Given the description of an element on the screen output the (x, y) to click on. 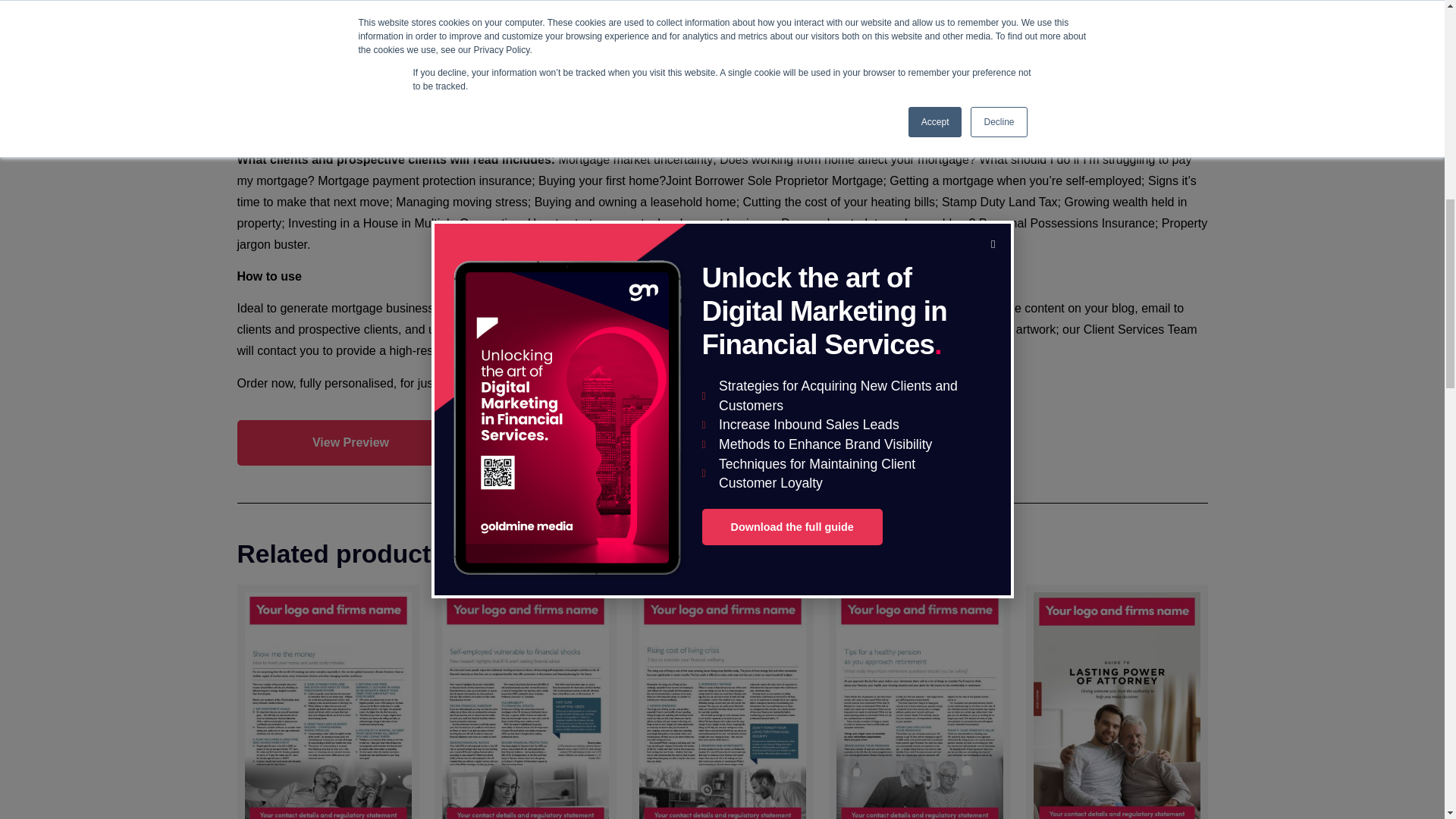
View Preview (349, 443)
